Given the description of an element on the screen output the (x, y) to click on. 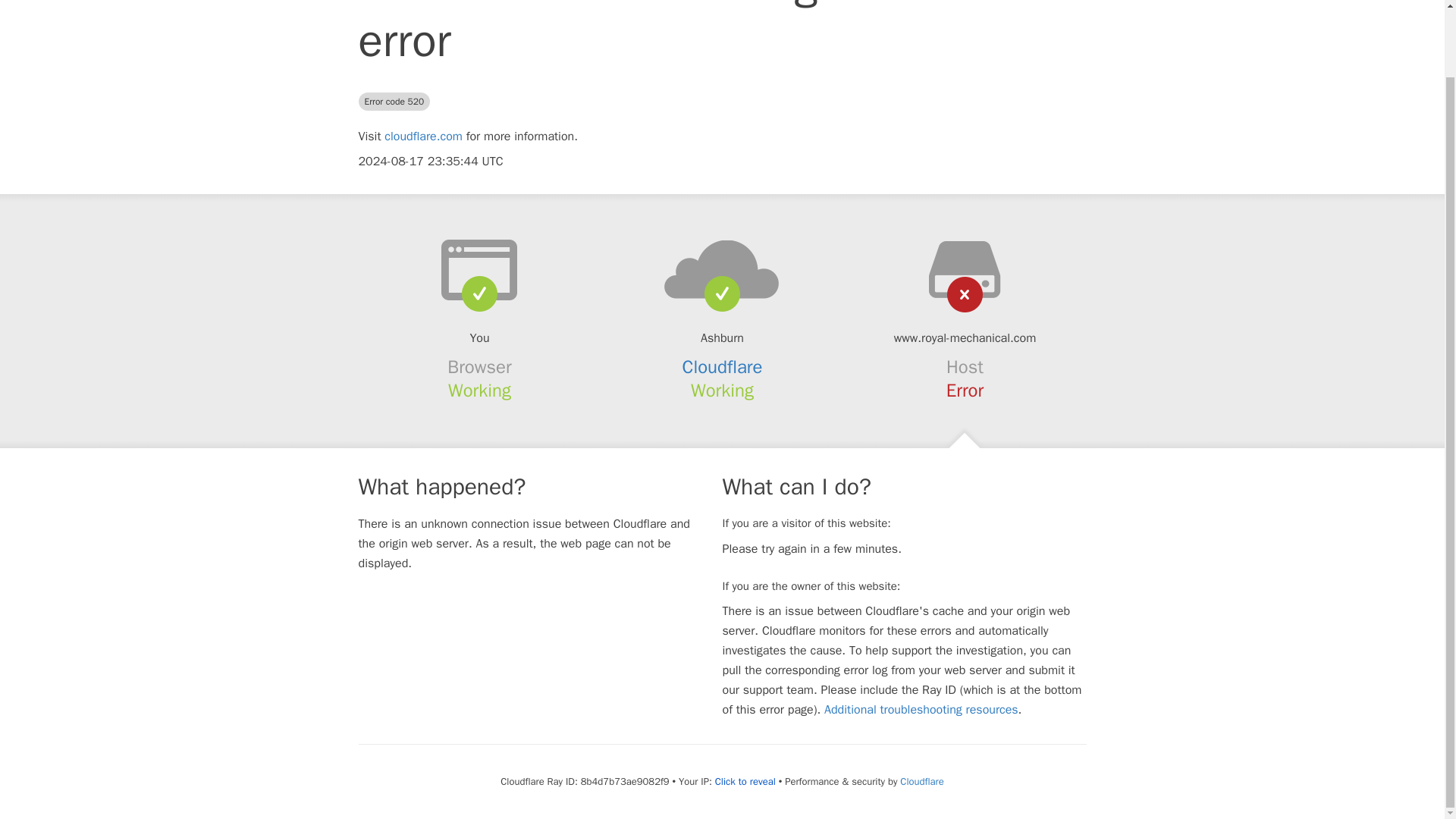
Click to reveal (745, 781)
Cloudflare (921, 780)
cloudflare.com (423, 136)
Additional troubleshooting resources (920, 709)
Cloudflare (722, 366)
